Given the description of an element on the screen output the (x, y) to click on. 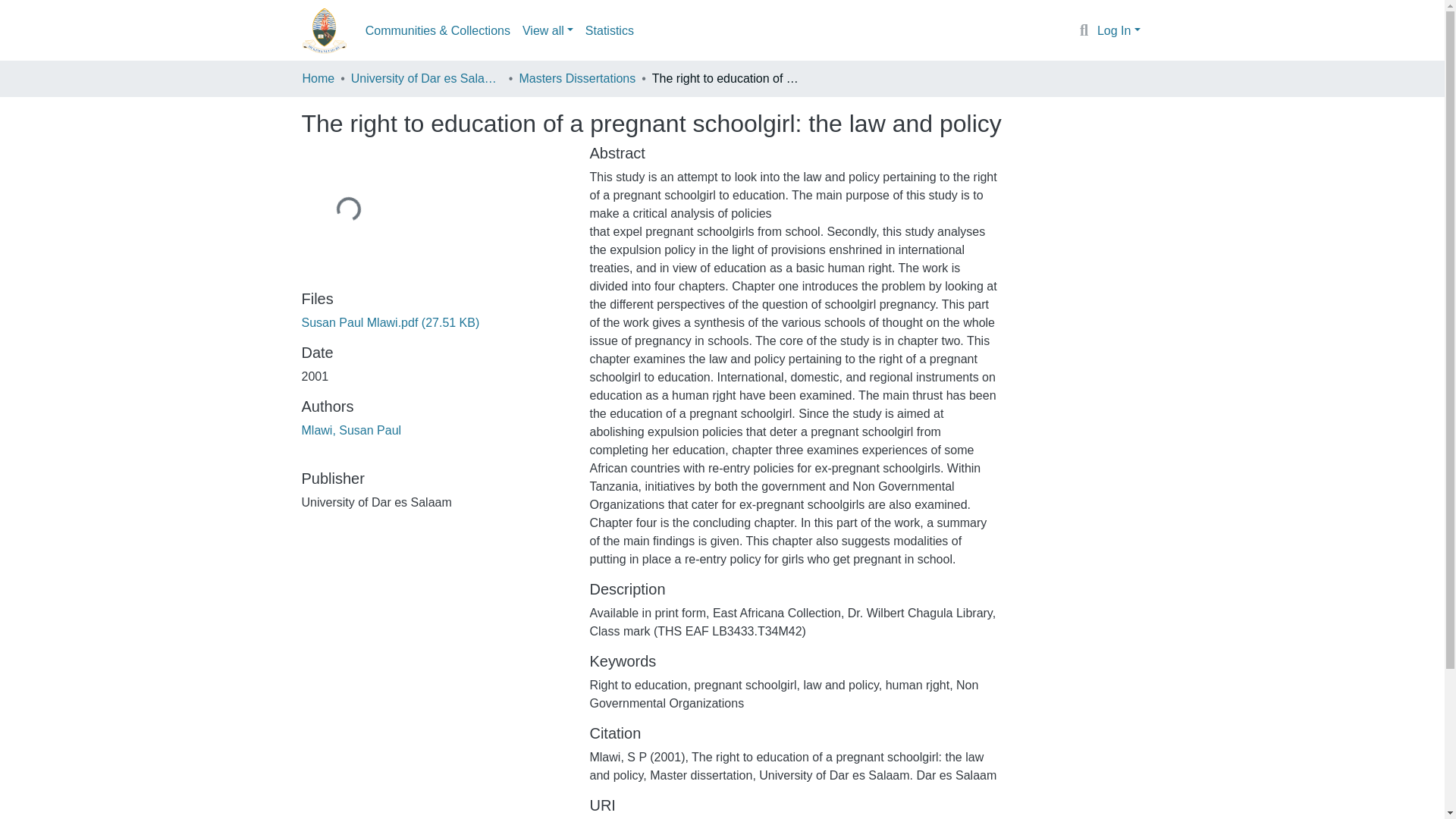
Search (1084, 30)
Home (317, 78)
Statistics (609, 30)
View all (547, 30)
Log In (1118, 30)
Mlawi, Susan Paul (351, 430)
University of Dar es Salaam School of Law (426, 78)
Statistics (609, 30)
Masters Dissertations (576, 78)
